Given the description of an element on the screen output the (x, y) to click on. 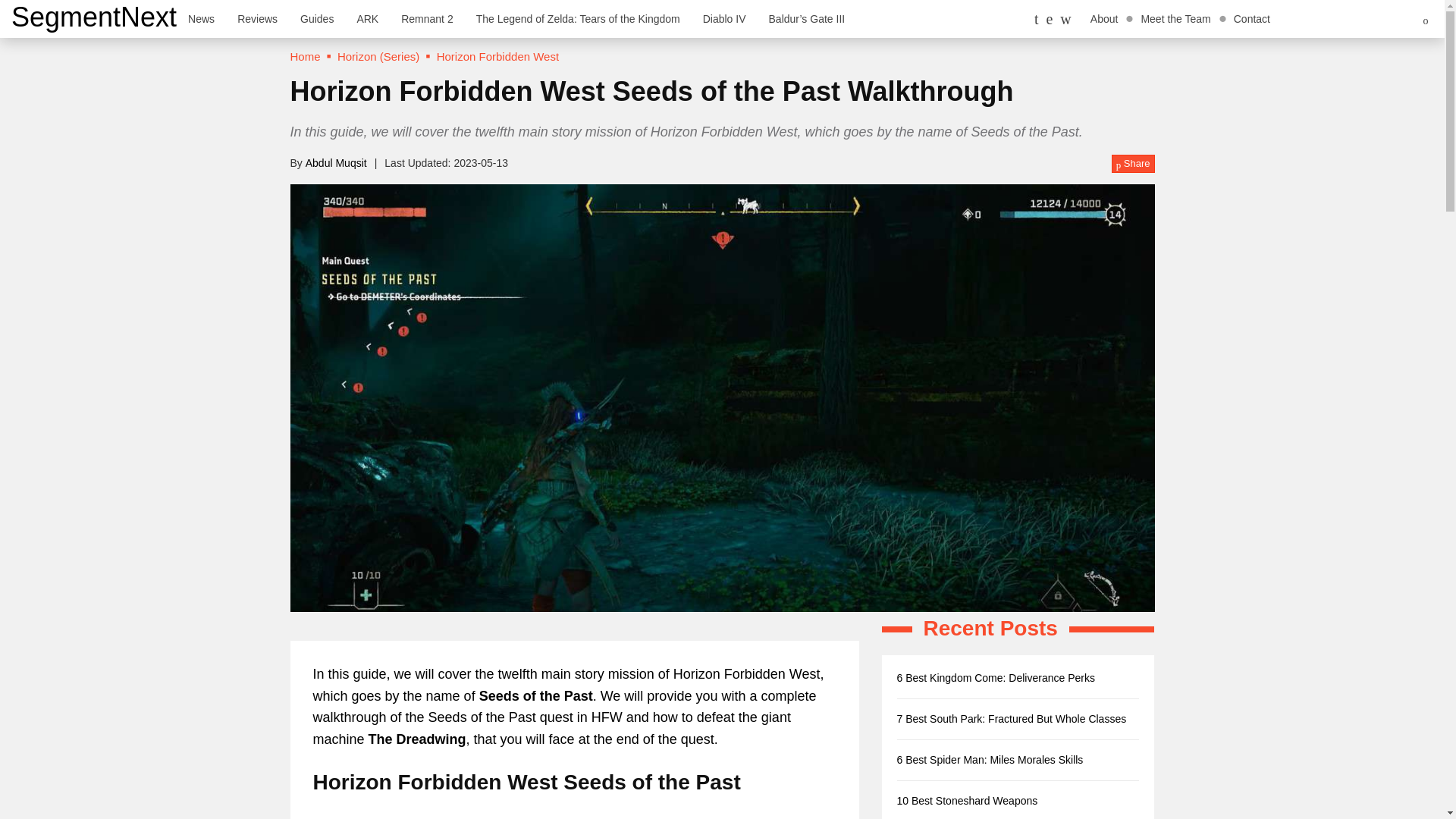
Contact (1252, 18)
SegmentNext (93, 16)
Abdul Muqsit (335, 162)
6 Best Kingdom Come: Deliverance Perks (995, 677)
Reviews (256, 18)
Meet the Team (1175, 18)
The Legend of Zelda: Tears of the Kingdom (577, 18)
Remnant 2 (427, 18)
News (200, 18)
Share (1133, 163)
